Given the description of an element on the screen output the (x, y) to click on. 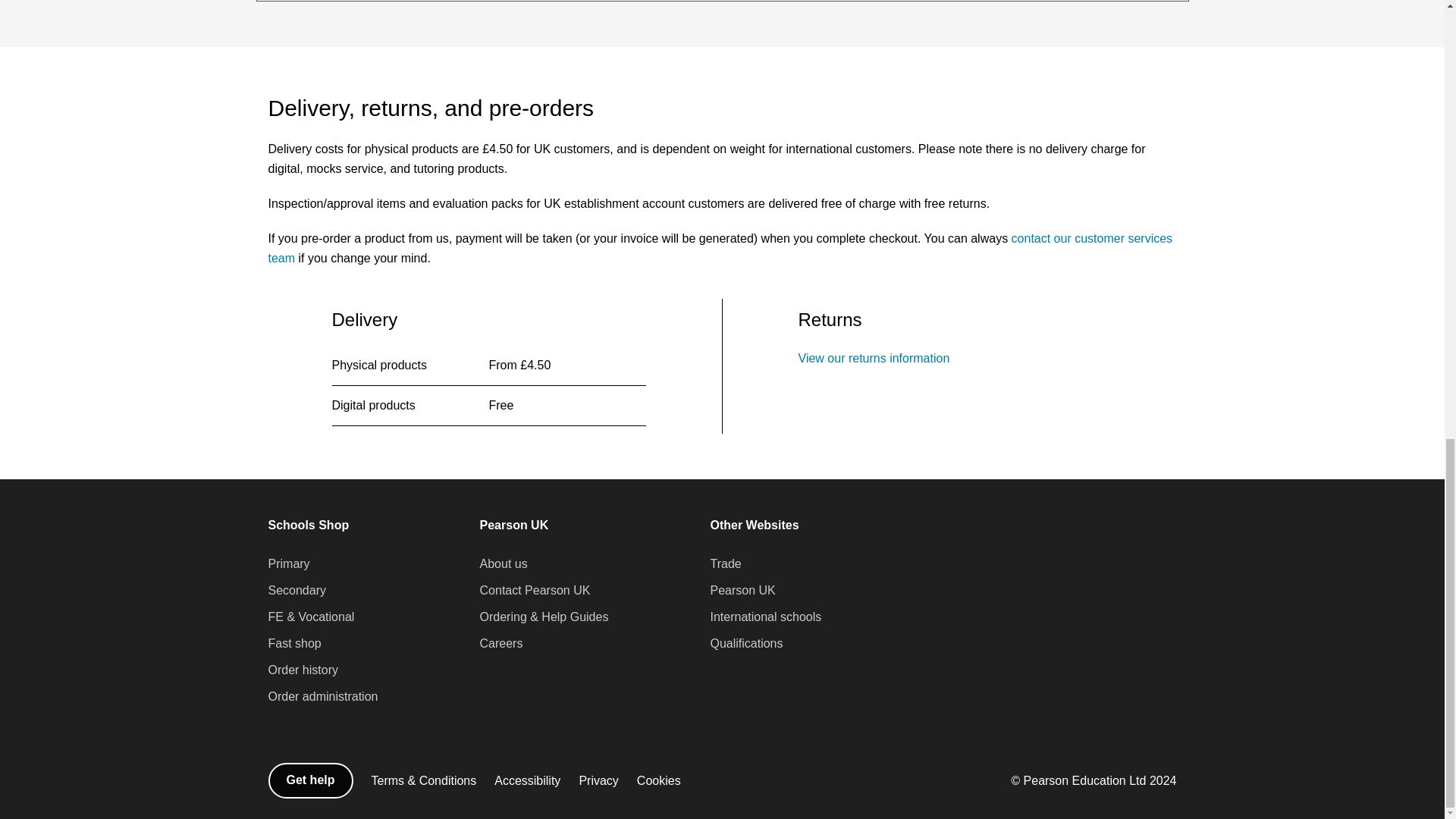
View our returns information (873, 358)
Returns (873, 358)
Fast shop (294, 643)
Order history (302, 670)
contact our customer services team (720, 247)
Primary (288, 563)
Secondary (296, 590)
